Given the description of an element on the screen output the (x, y) to click on. 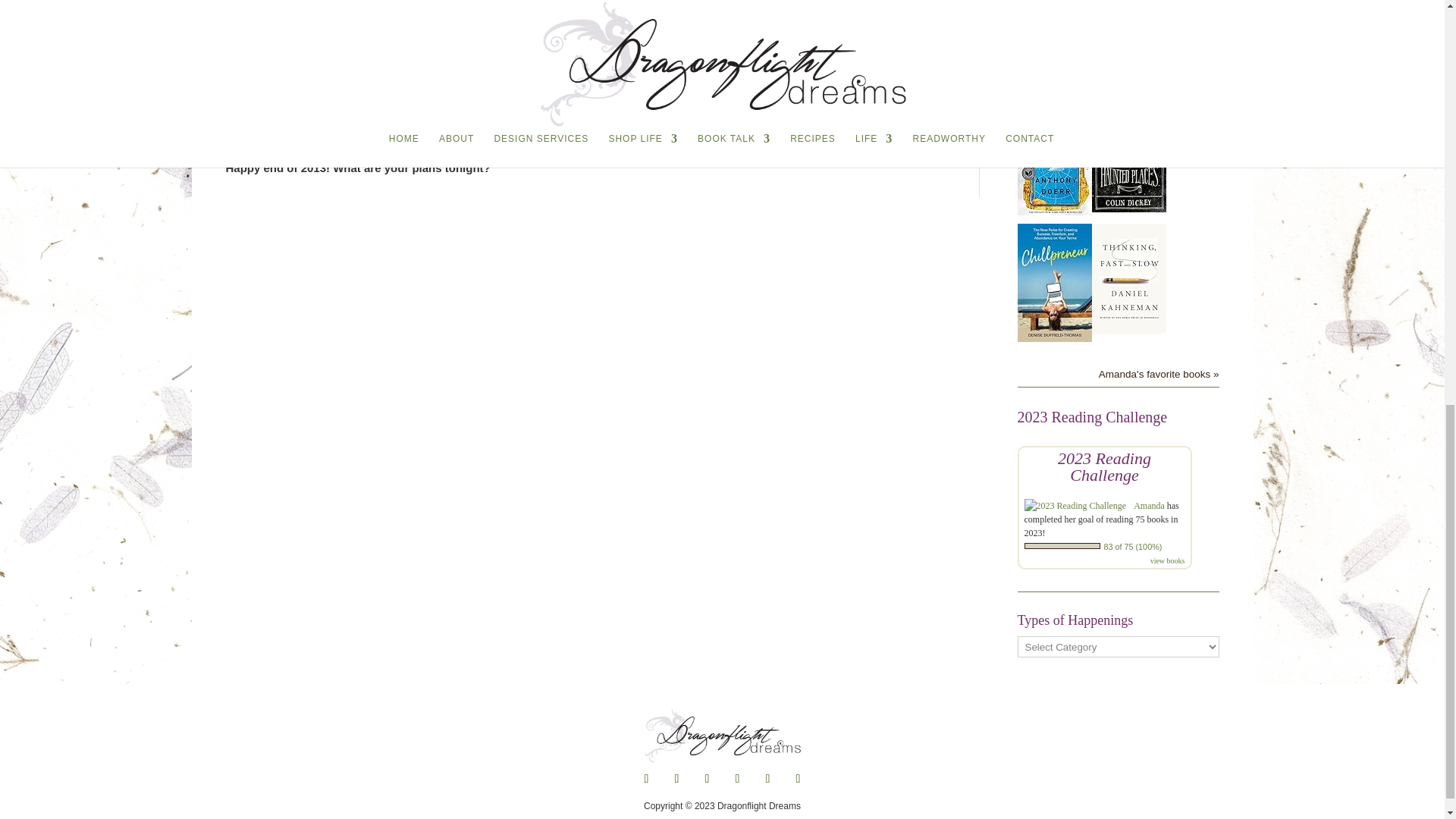
Follow on Facebook (645, 778)
Follow on X (675, 778)
How to Write the Perfect YA Heroine (327, 21)
Cloud Cuckoo Land (1054, 210)
Follow on Pinterest (706, 778)
dd-new-logo (722, 735)
Follow on Instagram (737, 778)
6 Condom Warning Labels That Should Exist (349, 4)
Follow on RSS (797, 778)
